Given the description of an element on the screen output the (x, y) to click on. 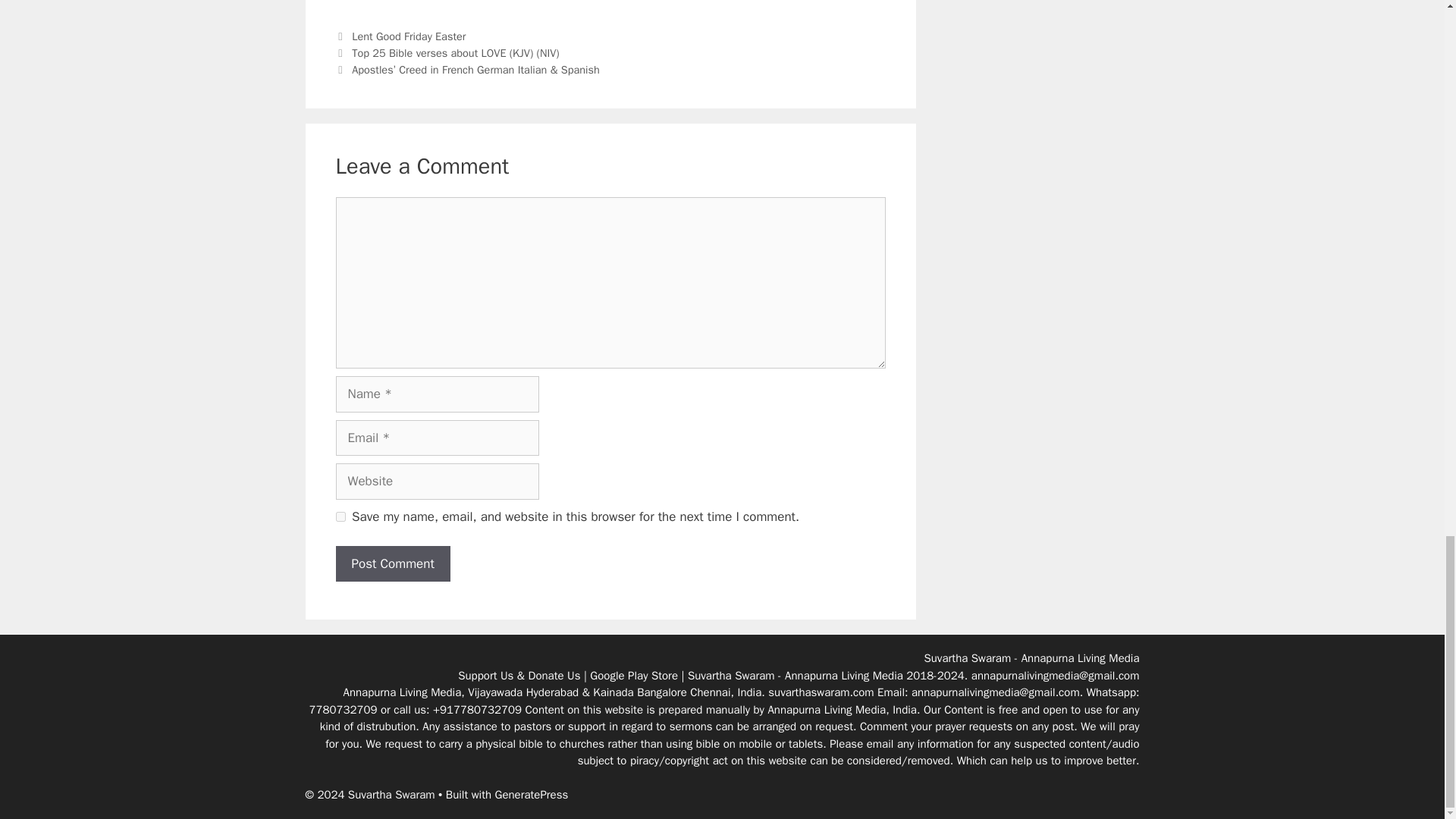
Post Comment (391, 563)
Suvartha Swaram (730, 674)
Lent Good Friday Easter (408, 36)
Post Comment (391, 563)
GeneratePress (532, 794)
yes (339, 516)
Google Play Store (633, 674)
